Given the description of an element on the screen output the (x, y) to click on. 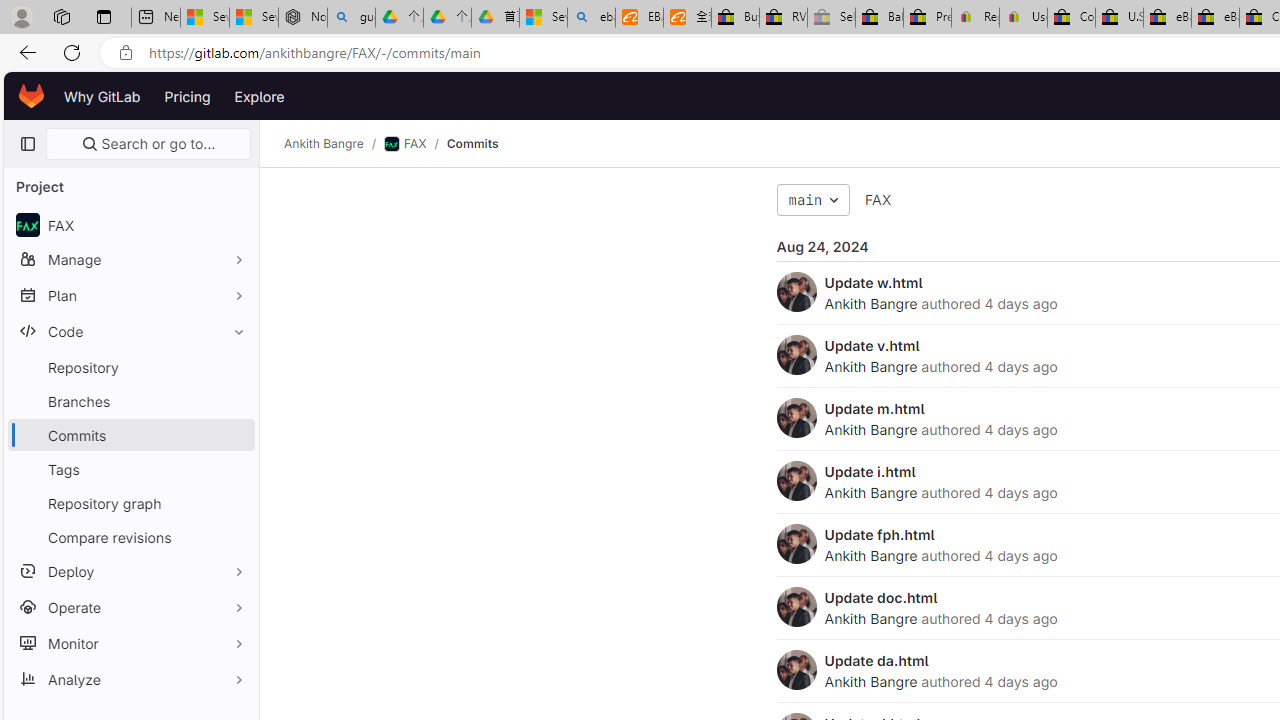
Why GitLab (102, 95)
Update m.html (874, 408)
Tags (130, 468)
Ankith Bangre's avatar (795, 669)
FAX (878, 200)
Operate (130, 606)
Analyze (130, 678)
Pricing (187, 95)
Repository graph (130, 502)
Consumer Health Data Privacy Policy - eBay Inc. (1071, 17)
Operate (130, 606)
